Given the description of an element on the screen output the (x, y) to click on. 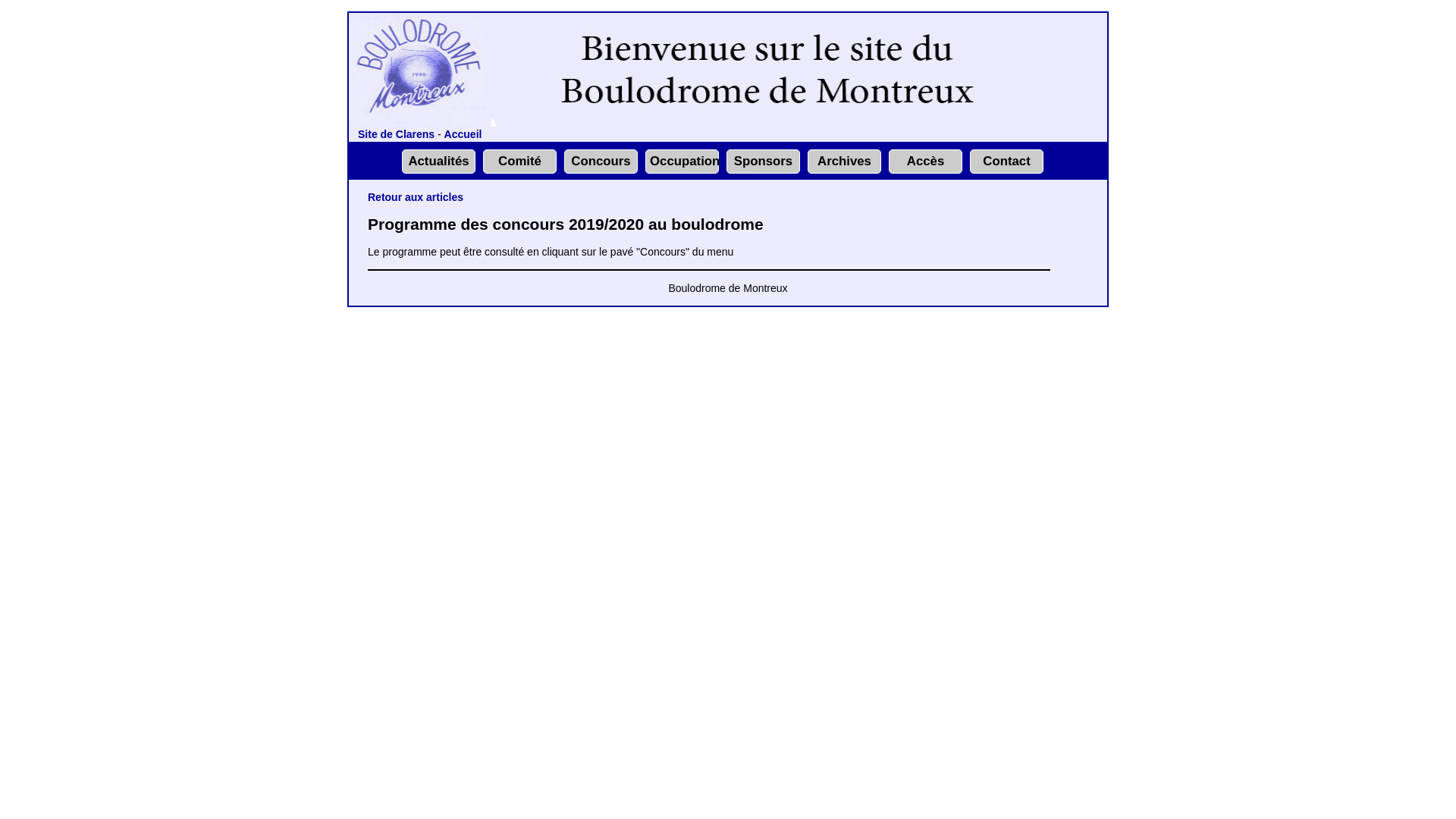
Occupation Element type: text (684, 160)
Accueil Element type: text (463, 134)
Site de Clarens Element type: text (395, 134)
Contact Element type: text (1005, 160)
Sponsors Element type: text (763, 160)
Retour aux articles Element type: text (415, 197)
Archives Element type: text (844, 160)
Concours Element type: text (600, 160)
